Given the description of an element on the screen output the (x, y) to click on. 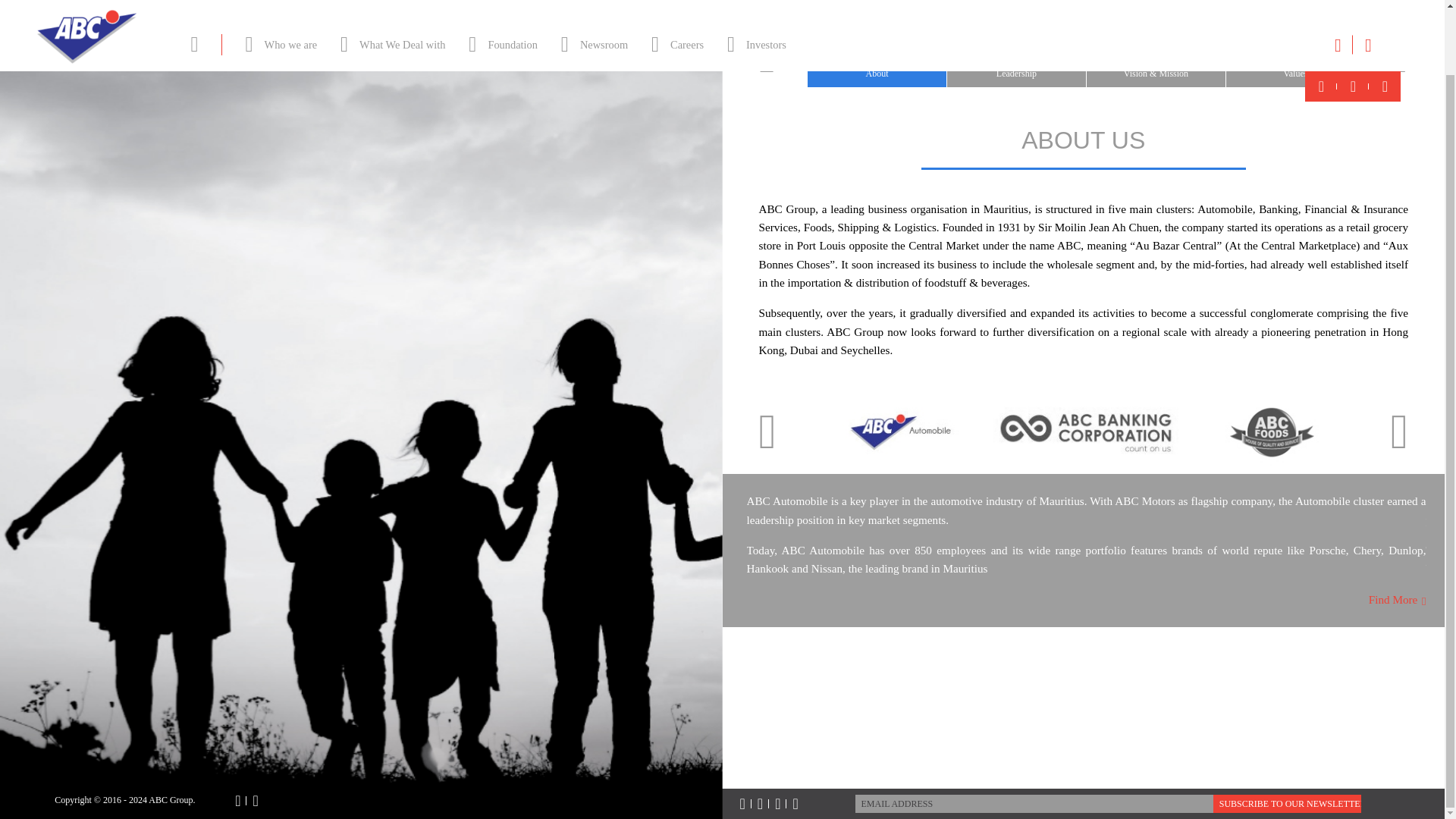
Leadership (1015, 55)
Find More (1397, 599)
About (876, 55)
Values (1294, 55)
SUBSCRIBE TO OUR NEWSLETTER (1286, 804)
